Given the description of an element on the screen output the (x, y) to click on. 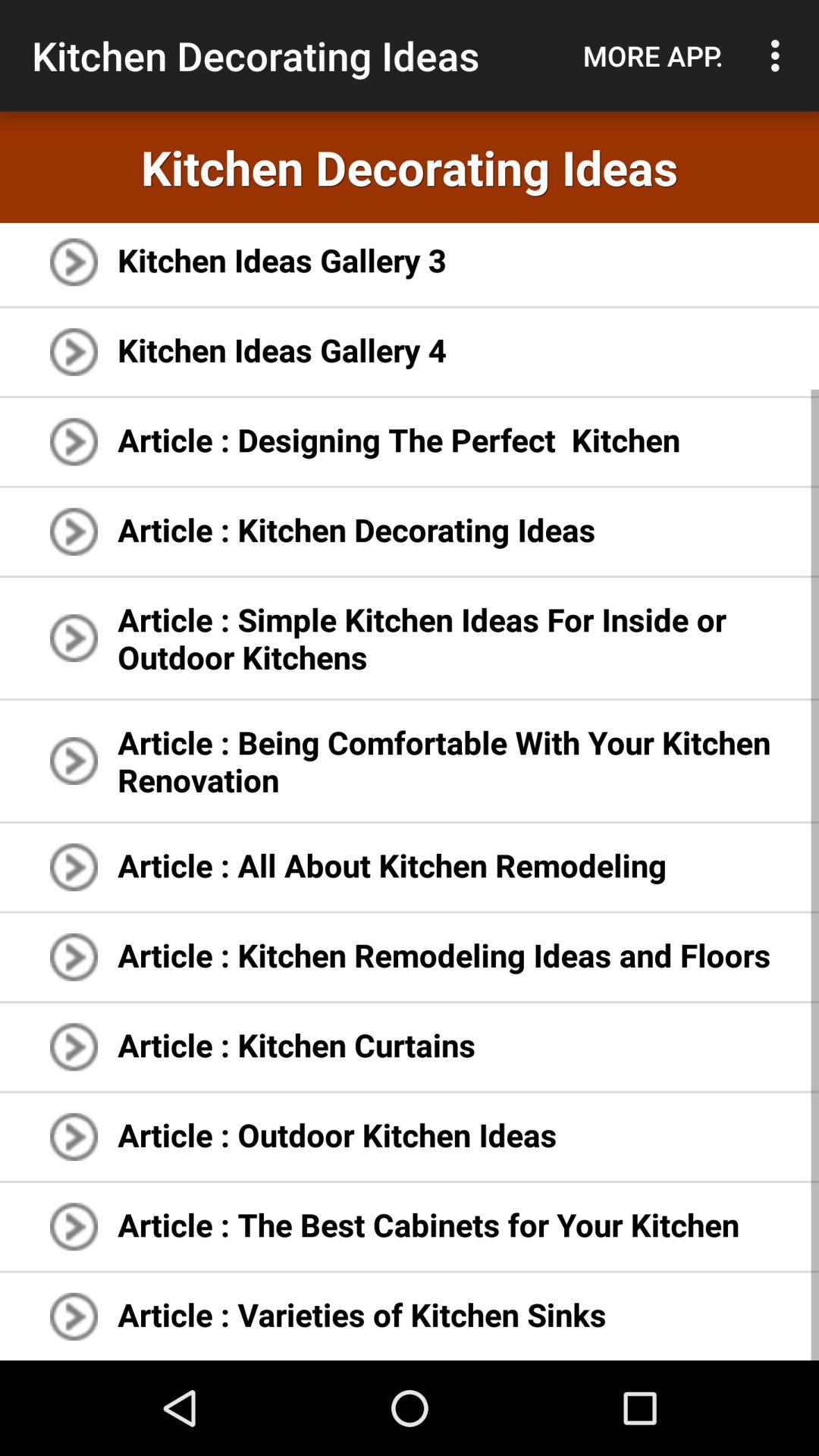
open icon above the kitchen decorating ideas (653, 55)
